Given the description of an element on the screen output the (x, y) to click on. 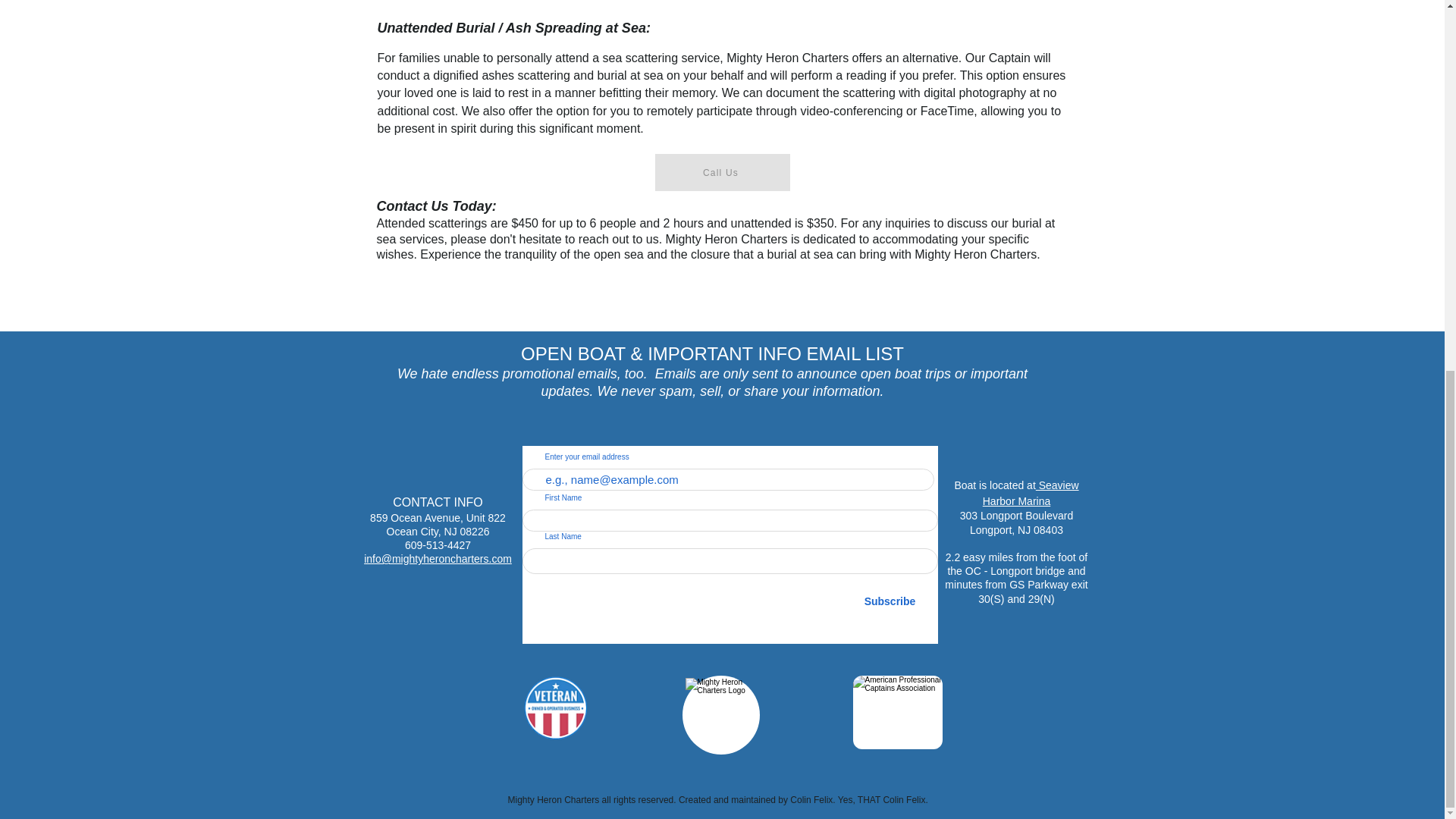
Call Us (722, 171)
Subscribe (890, 601)
Seaview Harbor Marina (1030, 492)
